Given the description of an element on the screen output the (x, y) to click on. 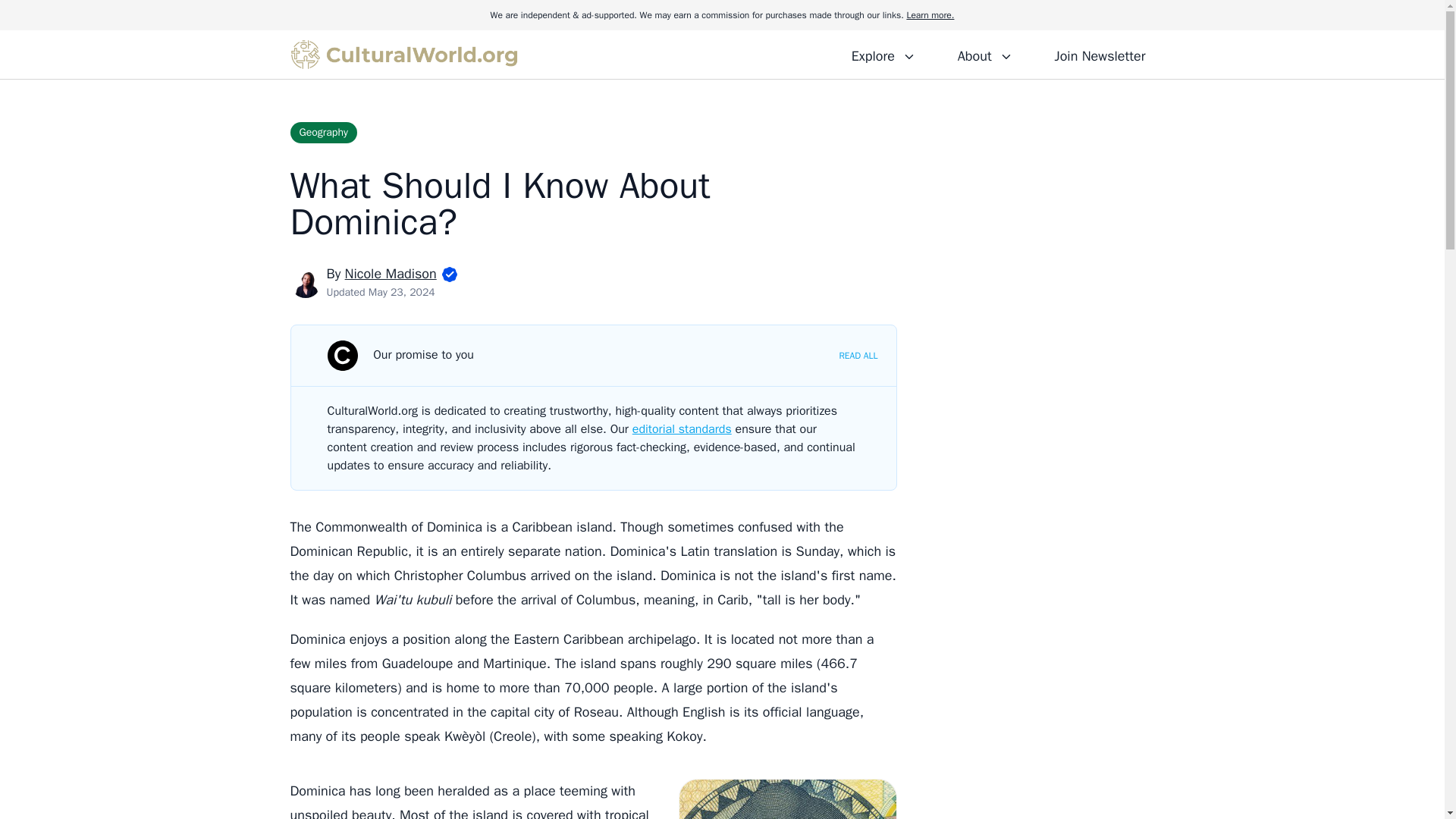
Join Newsletter (1099, 54)
Explore (883, 54)
READ ALL (857, 355)
editorial standards (681, 429)
Nicole Madison (390, 273)
Geography (322, 132)
About (984, 54)
Learn more. (929, 15)
